Given the description of an element on the screen output the (x, y) to click on. 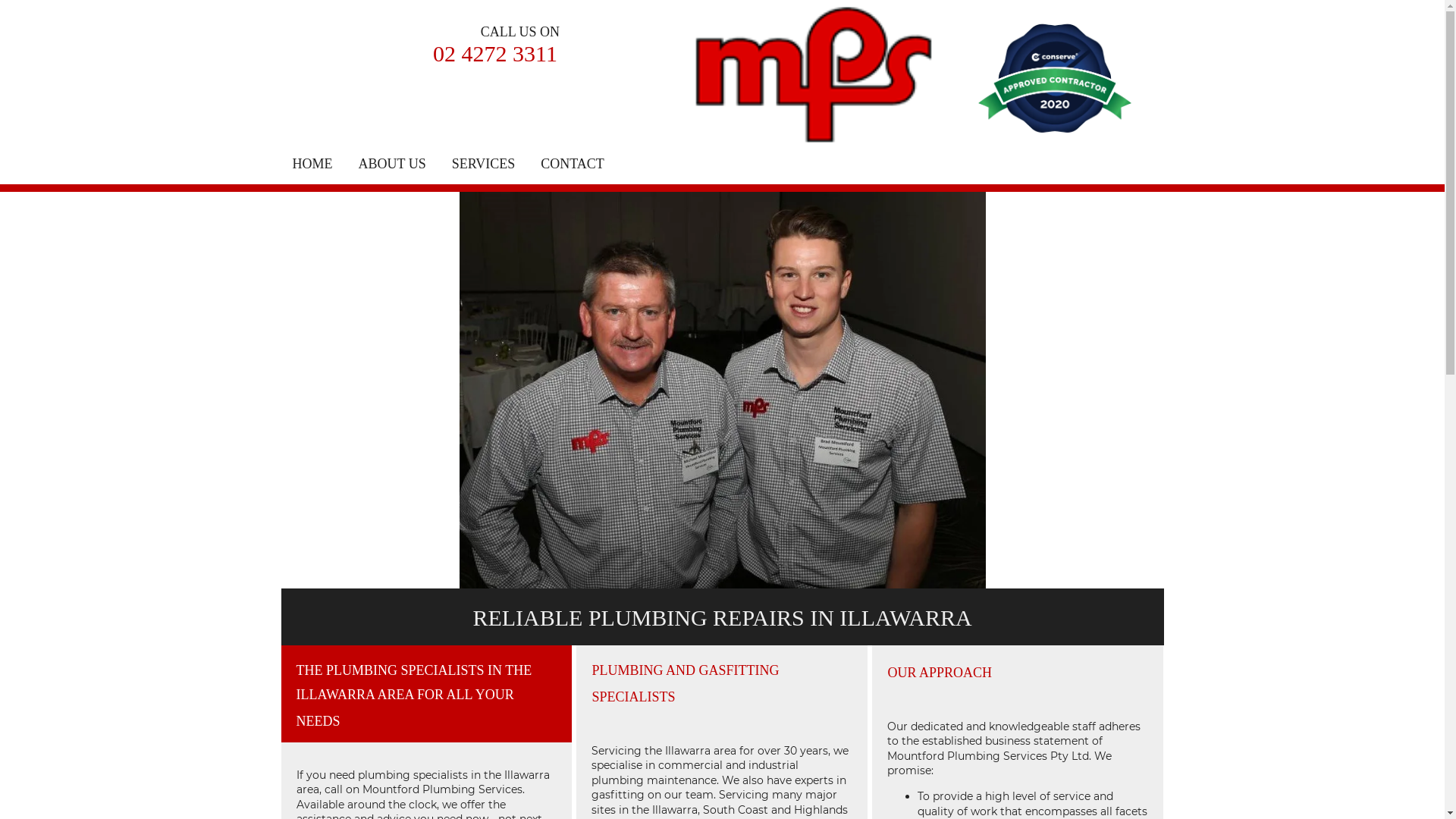
02 4272 3311 Element type: text (495, 52)
SERVICES Element type: text (483, 163)
plumber-tools-hero-image Element type: hover (722, 389)
ABOUT US Element type: text (391, 163)
CONTACT Element type: text (572, 163)
HOME Element type: text (312, 163)
